Given the description of an element on the screen output the (x, y) to click on. 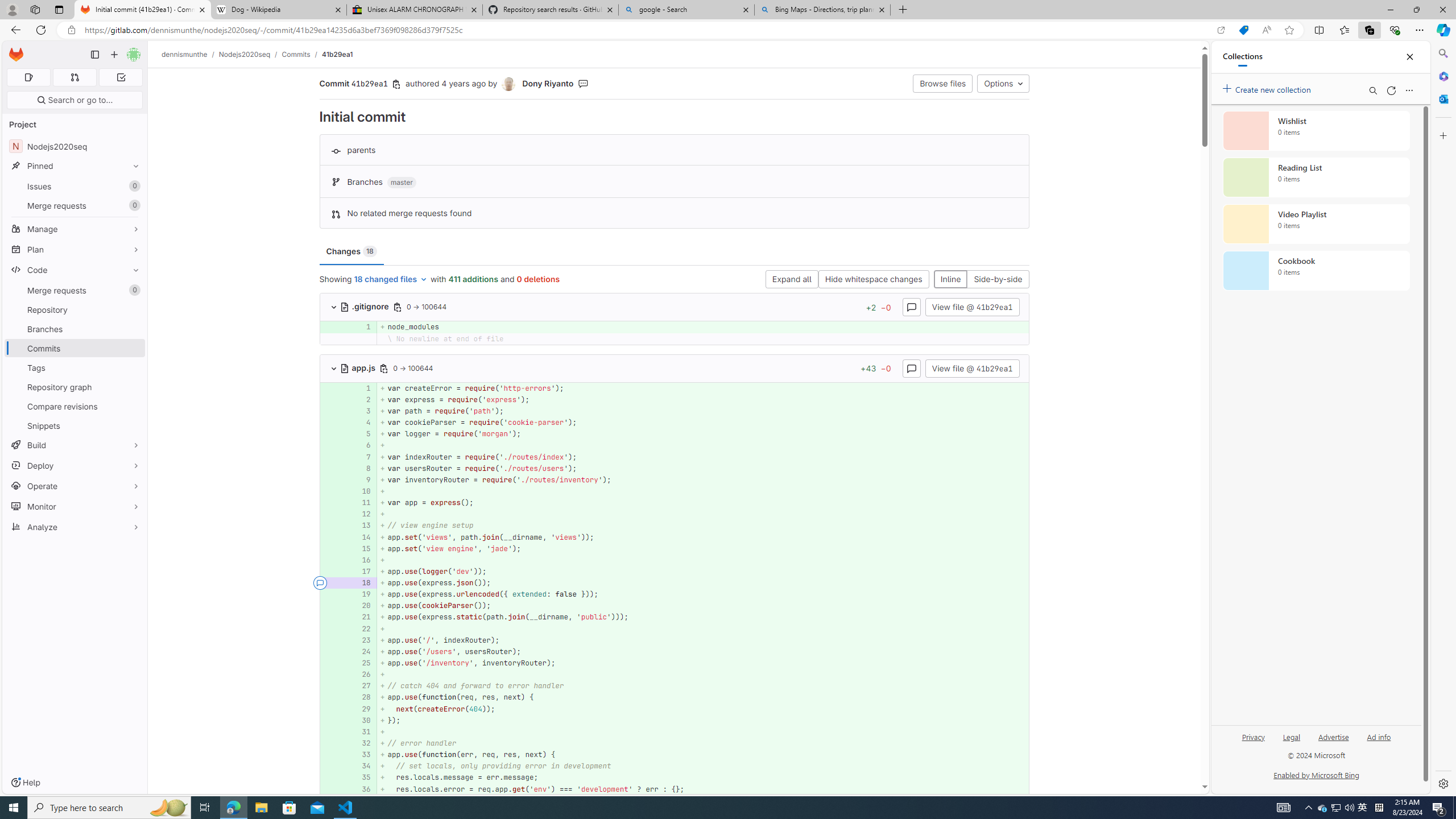
Privacy (1253, 736)
+ // set locals, only providing error in development  (703, 766)
App bar (728, 29)
+ app.use('/inventory', inventoryRouter);  (703, 663)
Dony Riyanto's avatar (508, 83)
Pin Snippets (132, 425)
36 (362, 788)
+ var express = require('express');  (703, 399)
+ var app = express();  (703, 503)
18 (360, 582)
13 (360, 525)
27 (362, 686)
AutomationID: 4a68969ef8e858229267b842dedf42ab5dde4d50_0_25 (674, 663)
AutomationID: 4a68969ef8e858229267b842dedf42ab5dde4d50_0_24 (674, 651)
